Given the description of an element on the screen output the (x, y) to click on. 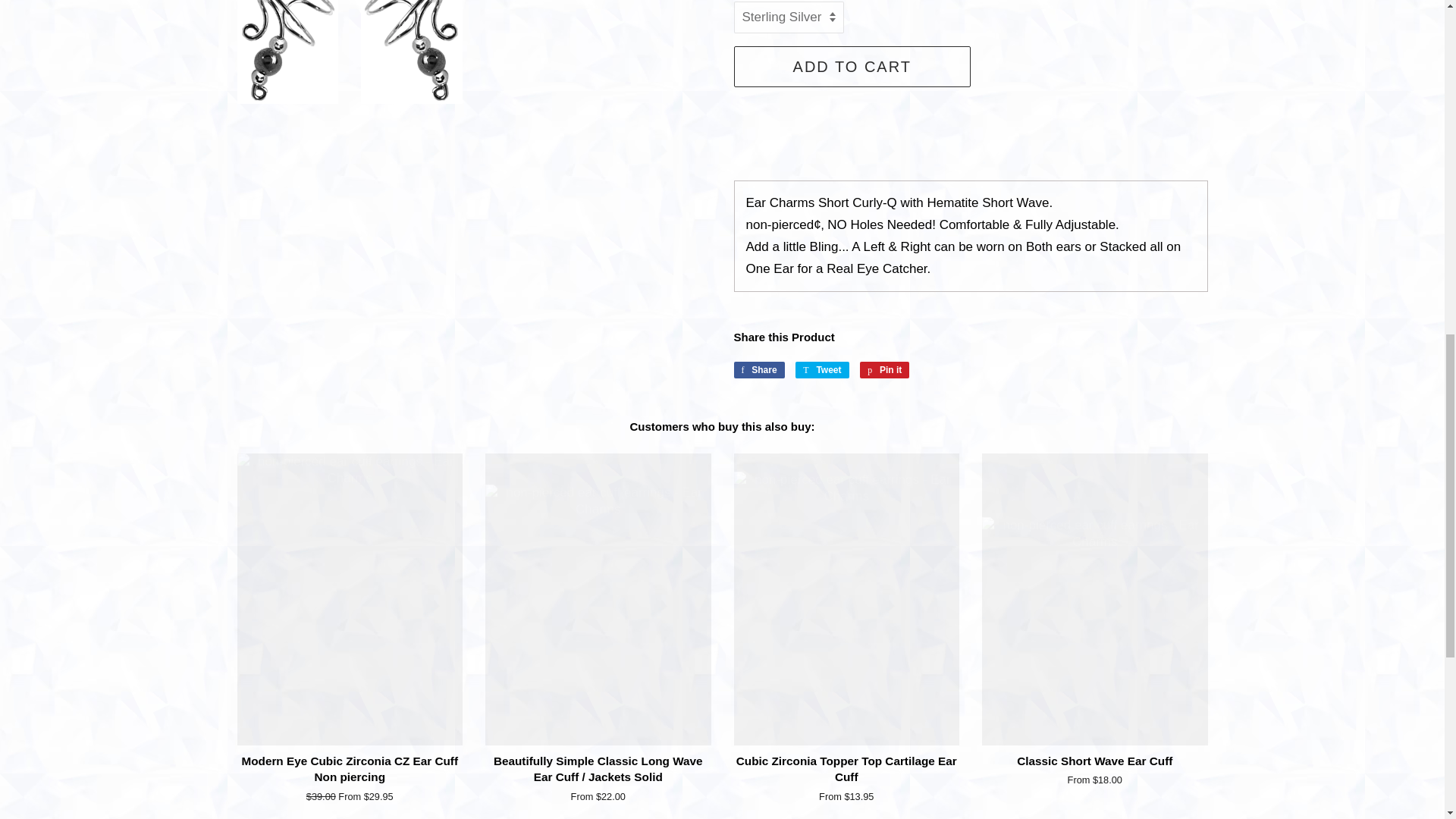
Tweet on Twitter (821, 369)
Pin on Pinterest (884, 369)
Share on Facebook (758, 369)
